Given the description of an element on the screen output the (x, y) to click on. 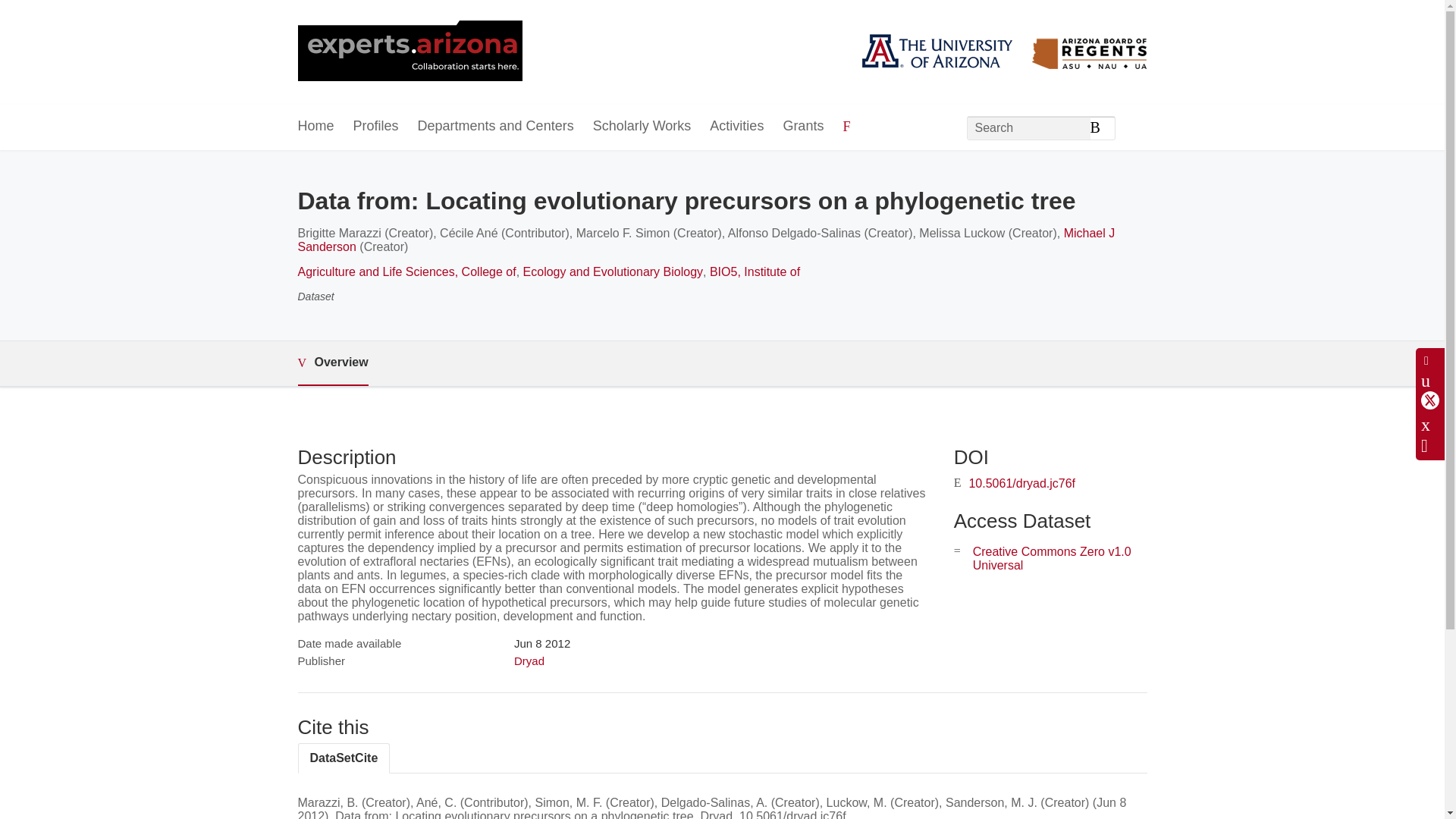
Agriculture and Life Sciences, College of (406, 271)
Dryad (528, 660)
University of Arizona Home (409, 52)
Activities (736, 126)
BIO5, Institute of (754, 271)
Departments and Centers (495, 126)
Creative Commons Zero v1.0 Universal (1051, 558)
Profiles (375, 126)
Scholarly Works (641, 126)
Michael J Sanderson (706, 239)
Grants (803, 126)
Overview (332, 363)
Ecology and Evolutionary Biology (612, 271)
